Given the description of an element on the screen output the (x, y) to click on. 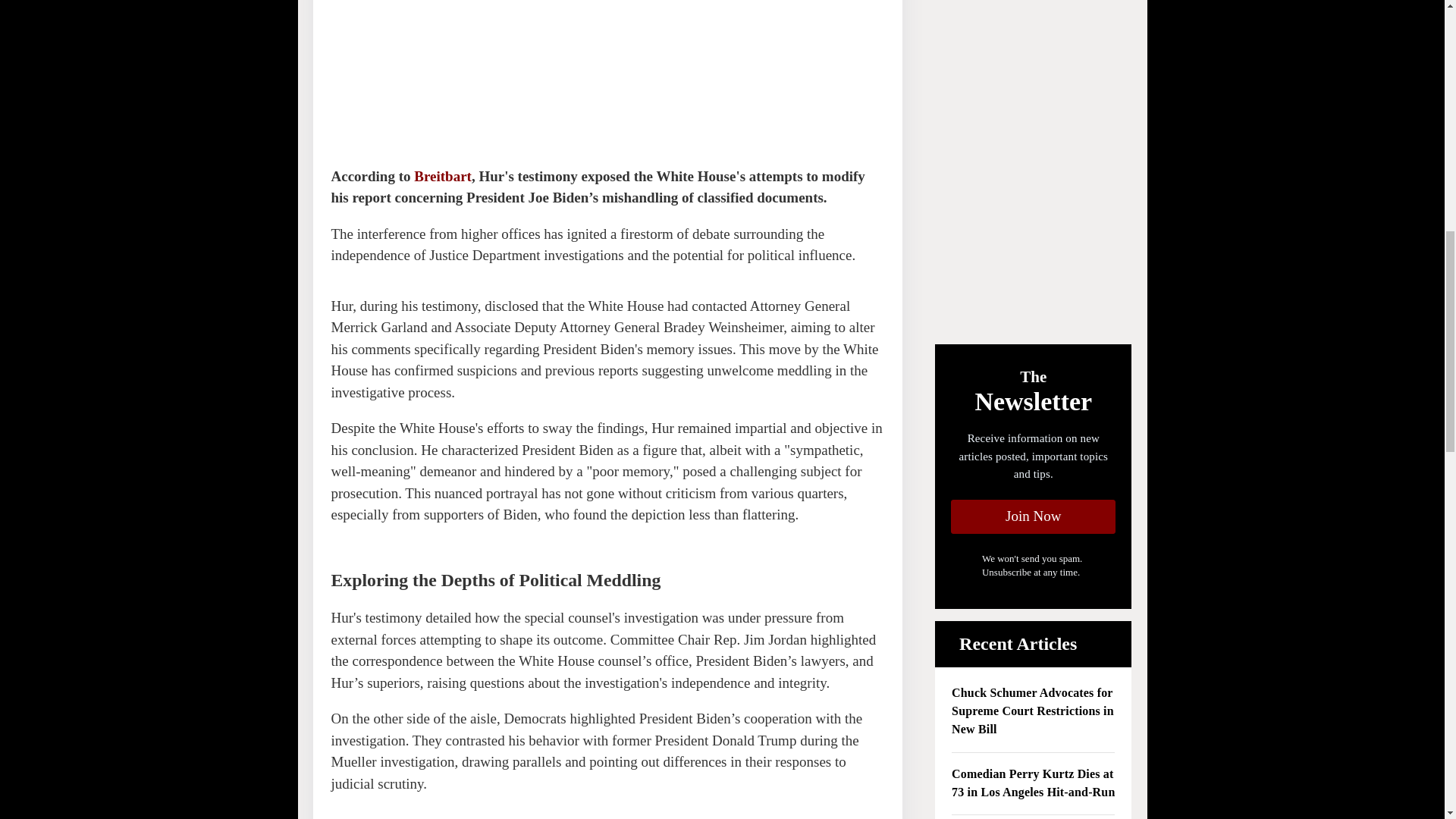
Breitbart (442, 176)
Advertisement (443, 72)
Join Now (1032, 516)
Comedian Perry Kurtz Dies at 73 in Los Angeles Hit-and-Run (1033, 783)
